Given the description of an element on the screen output the (x, y) to click on. 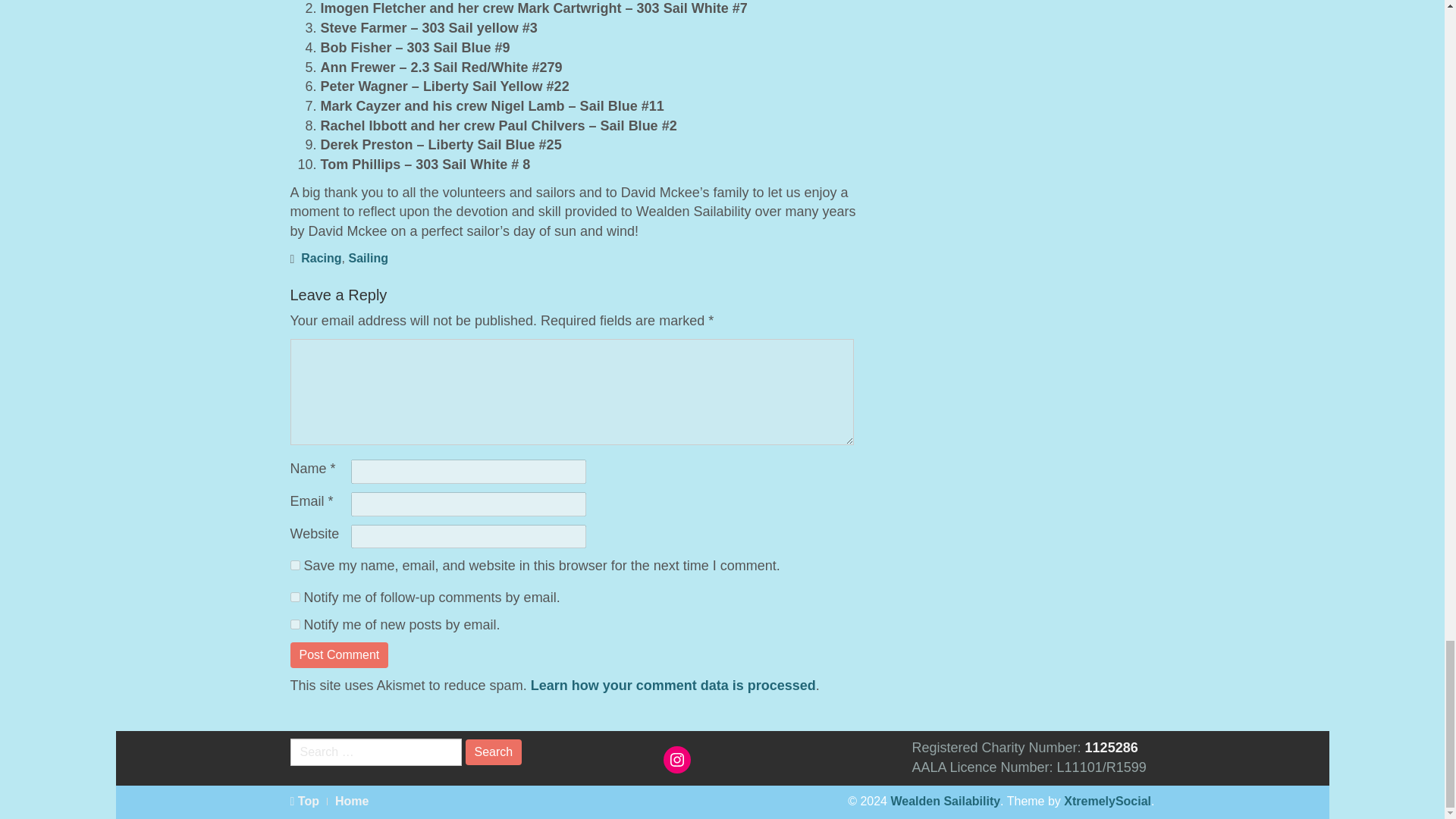
Post Comment (338, 655)
Top (303, 800)
Post Comment (338, 655)
subscribe (294, 624)
subscribe (294, 596)
Sailing (367, 257)
Search (493, 751)
Learn how your comment data is processed (673, 685)
Racing (320, 257)
Search (493, 751)
yes (294, 565)
